Given the description of an element on the screen output the (x, y) to click on. 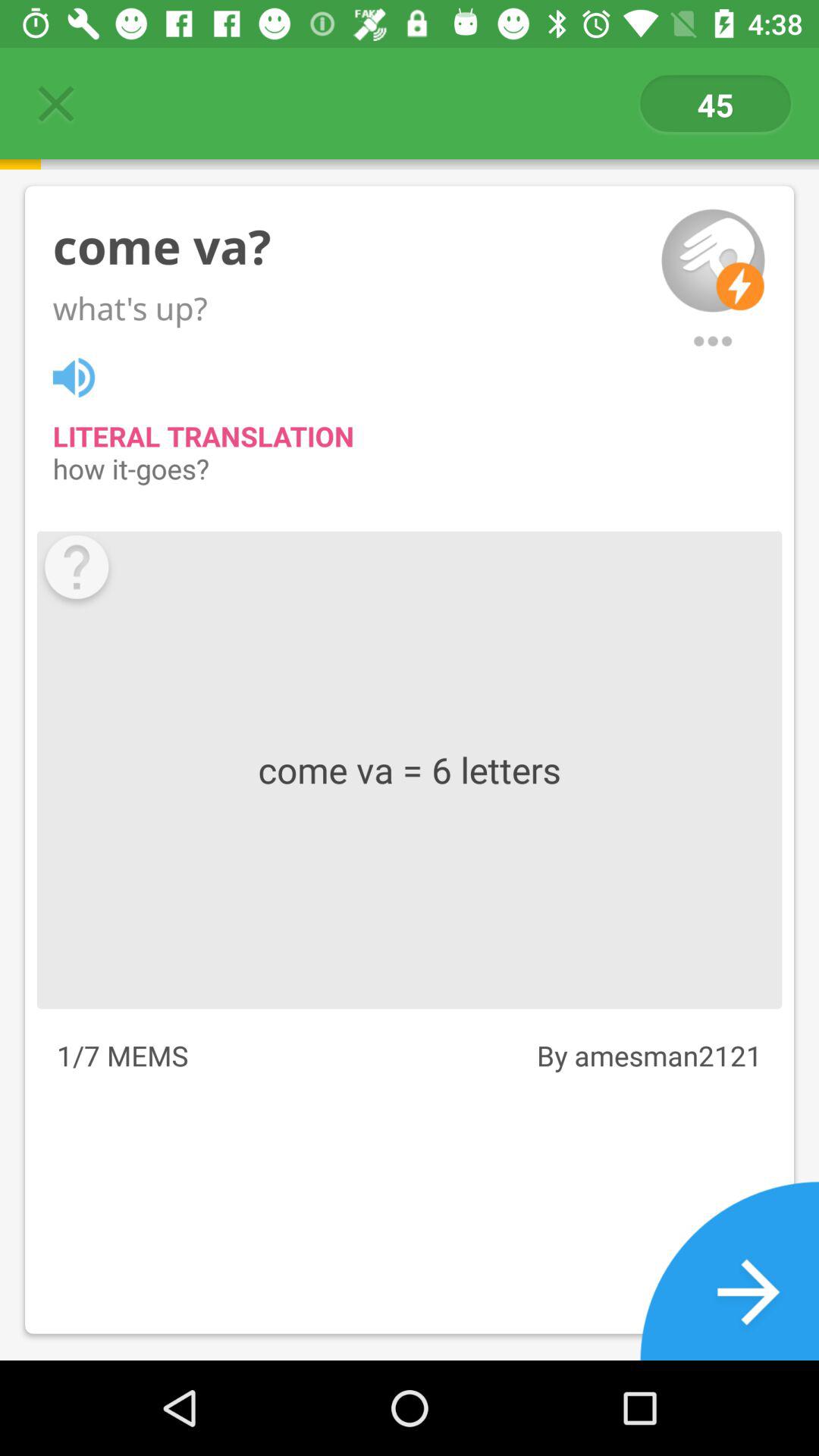
help feedback (76, 570)
